Given the description of an element on the screen output the (x, y) to click on. 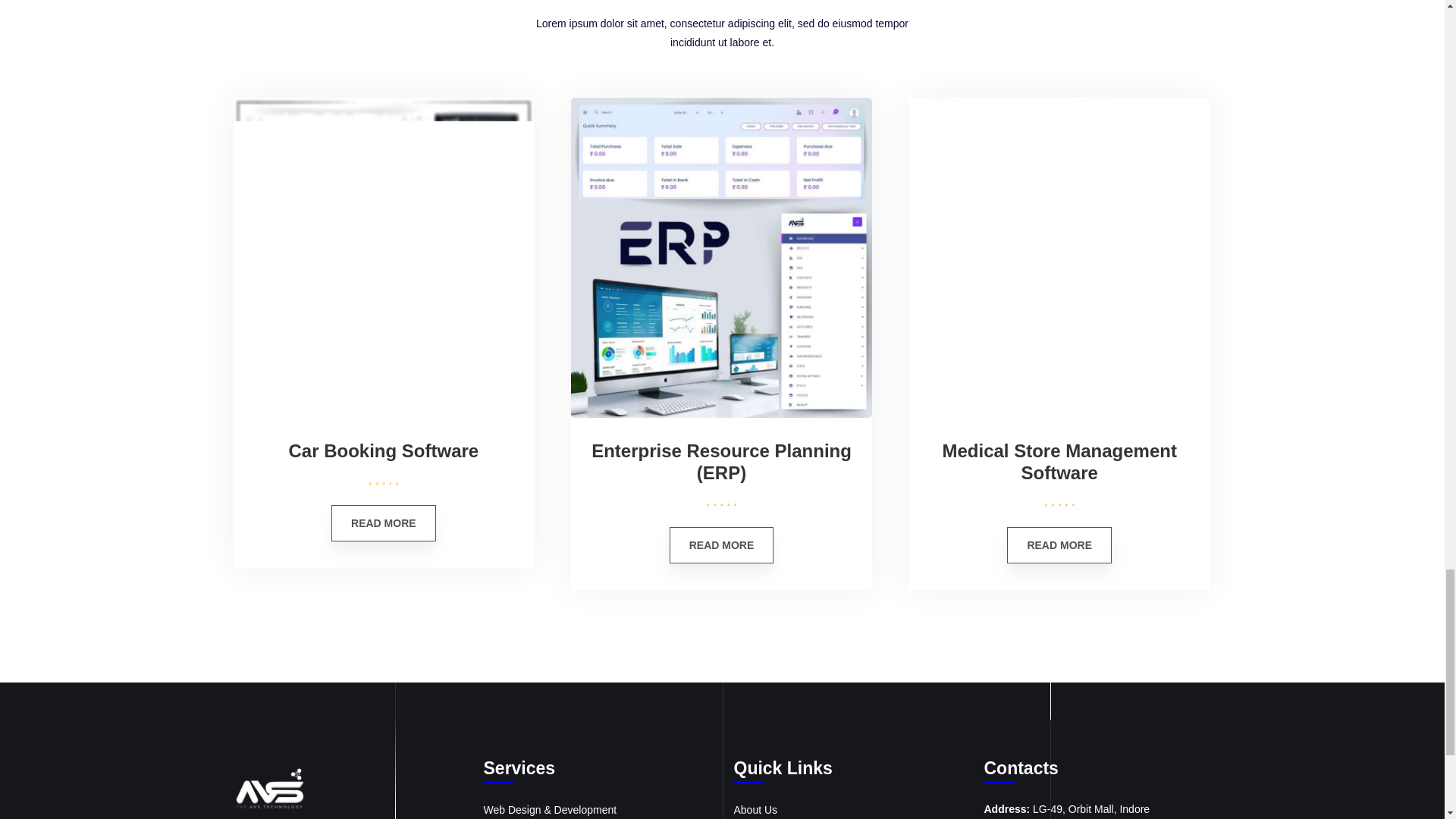
Medical Store Management Software (1059, 462)
READ MORE (721, 545)
Car Booking Software (383, 451)
READ MORE (383, 523)
READ MORE (1059, 545)
